Given the description of an element on the screen output the (x, y) to click on. 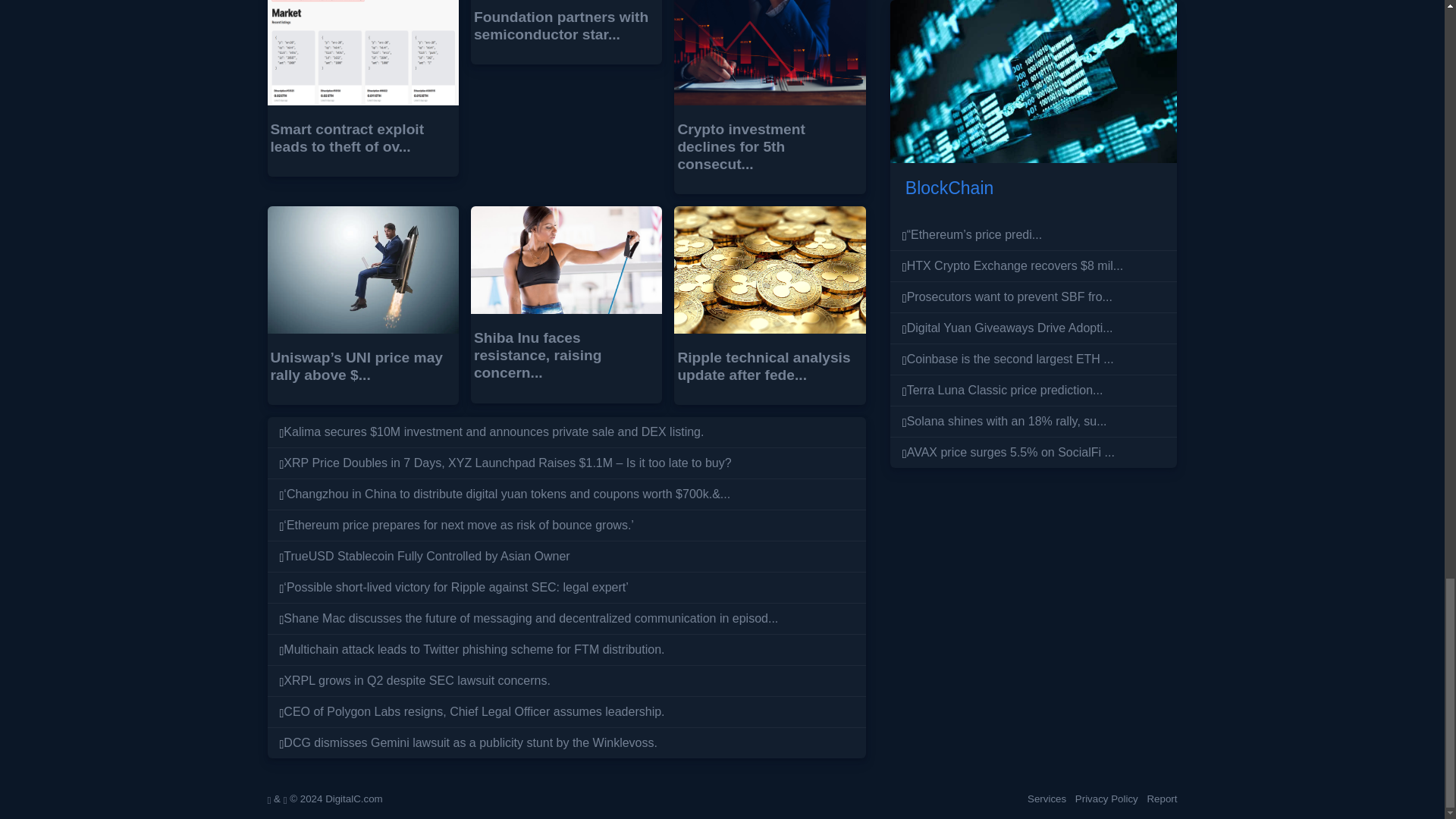
Foundation partners with semiconductor star... (560, 25)
Ripple technical analysis update after fede... (763, 366)
Smart contract exploit leads to theft of ov... (346, 137)
TrueUSD Stablecoin Fully Controlled by Asian Owner (426, 555)
Crypto investment declines for 5th consecut... (741, 146)
Shiba Inu faces resistance, raising concern... (538, 355)
